Given the description of an element on the screen output the (x, y) to click on. 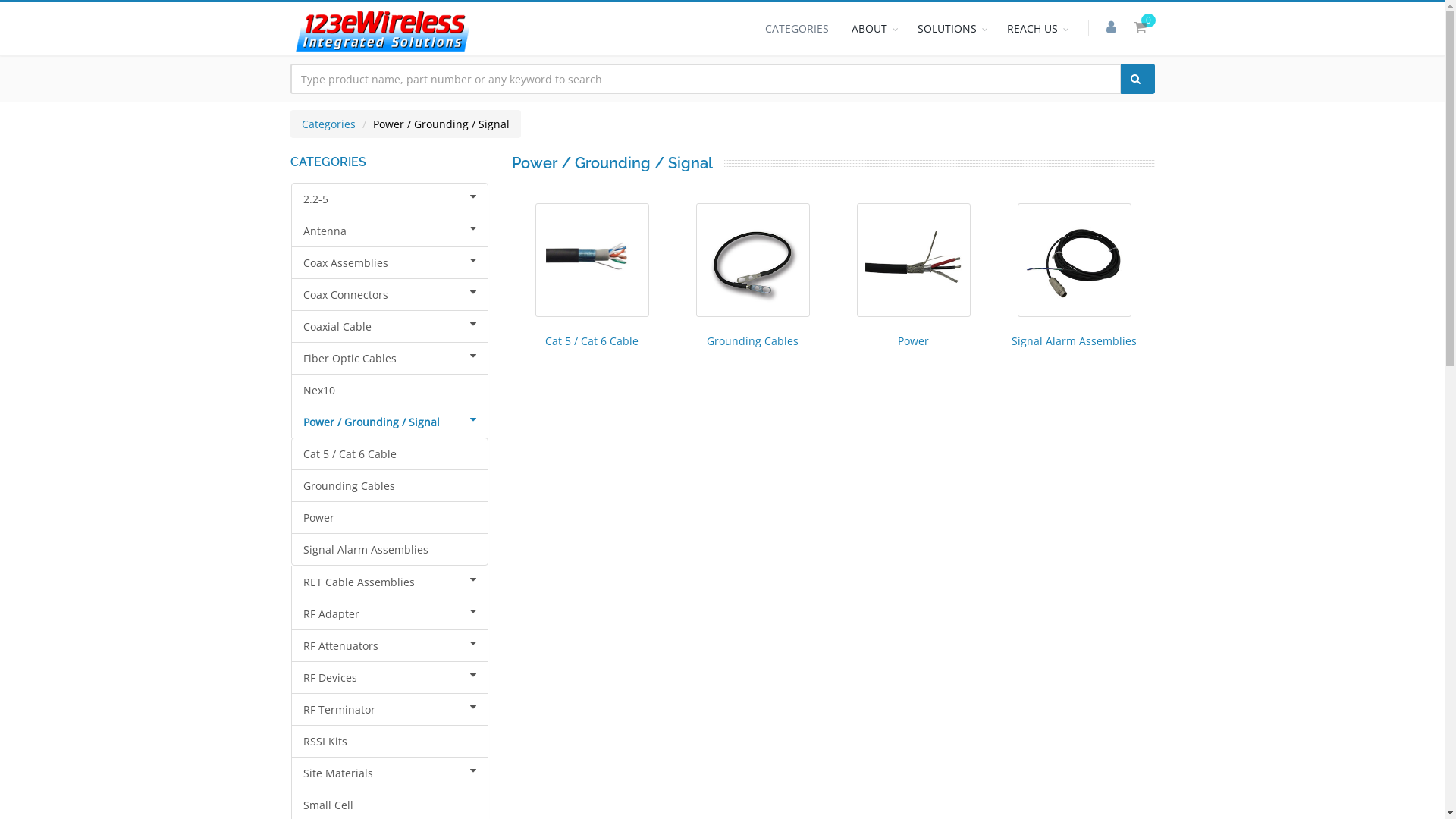
RET Cable Assemblies Element type: text (390, 581)
RSSI Kits Element type: text (390, 740)
RF Adapter Element type: text (390, 613)
Antenna Element type: text (390, 230)
Signal Alarm Assemblies Element type: text (1073, 340)
Power Element type: text (390, 517)
REACH US Element type: text (1035, 28)
2.2-5 Element type: text (390, 198)
Categories Element type: text (328, 123)
CATEGORIES Element type: text (796, 28)
Signal Alarm Assemblies Element type: text (390, 549)
Coax Assemblies Element type: text (390, 262)
SOLUTIONS Element type: text (949, 28)
Grounding Cables Element type: text (390, 485)
0 Element type: text (1141, 27)
Power / Grounding / Signal Element type: text (390, 421)
Site Materials Element type: text (390, 772)
Power / Grounding / Signal Element type: text (441, 123)
Nex10 Element type: text (390, 389)
RF Attenuators Element type: text (390, 645)
Grounding Cables Element type: text (752, 340)
RF Devices Element type: text (390, 677)
Coax Connectors Element type: text (390, 294)
Power Element type: text (912, 340)
Cat 5 / Cat 6 Cable Element type: text (591, 340)
Cat 5 / Cat 6 Cable Element type: text (390, 453)
Fiber Optic Cables Element type: text (390, 358)
Coaxial Cable Element type: text (390, 326)
RF Terminator Element type: text (390, 709)
ABOUT Element type: text (873, 28)
